Given the description of an element on the screen output the (x, y) to click on. 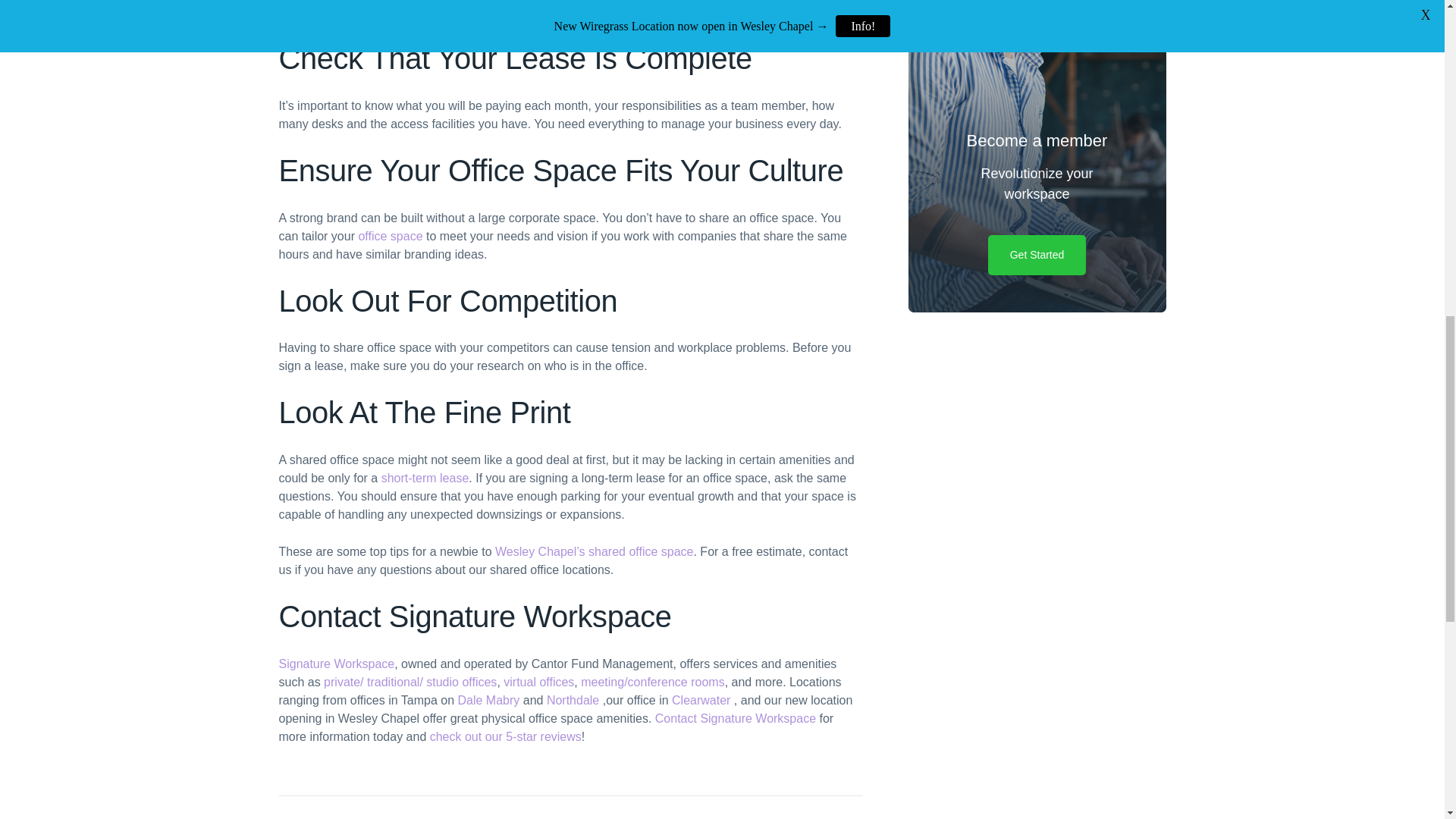
Signature Workspace (336, 663)
Dale Mabry (488, 699)
Northdale (572, 699)
check out our 5-star reviews (504, 736)
Clearwater (700, 699)
virtual offices (538, 681)
office space (390, 236)
short-term lease (424, 477)
Contact Signature Workspace (735, 717)
